Given the description of an element on the screen output the (x, y) to click on. 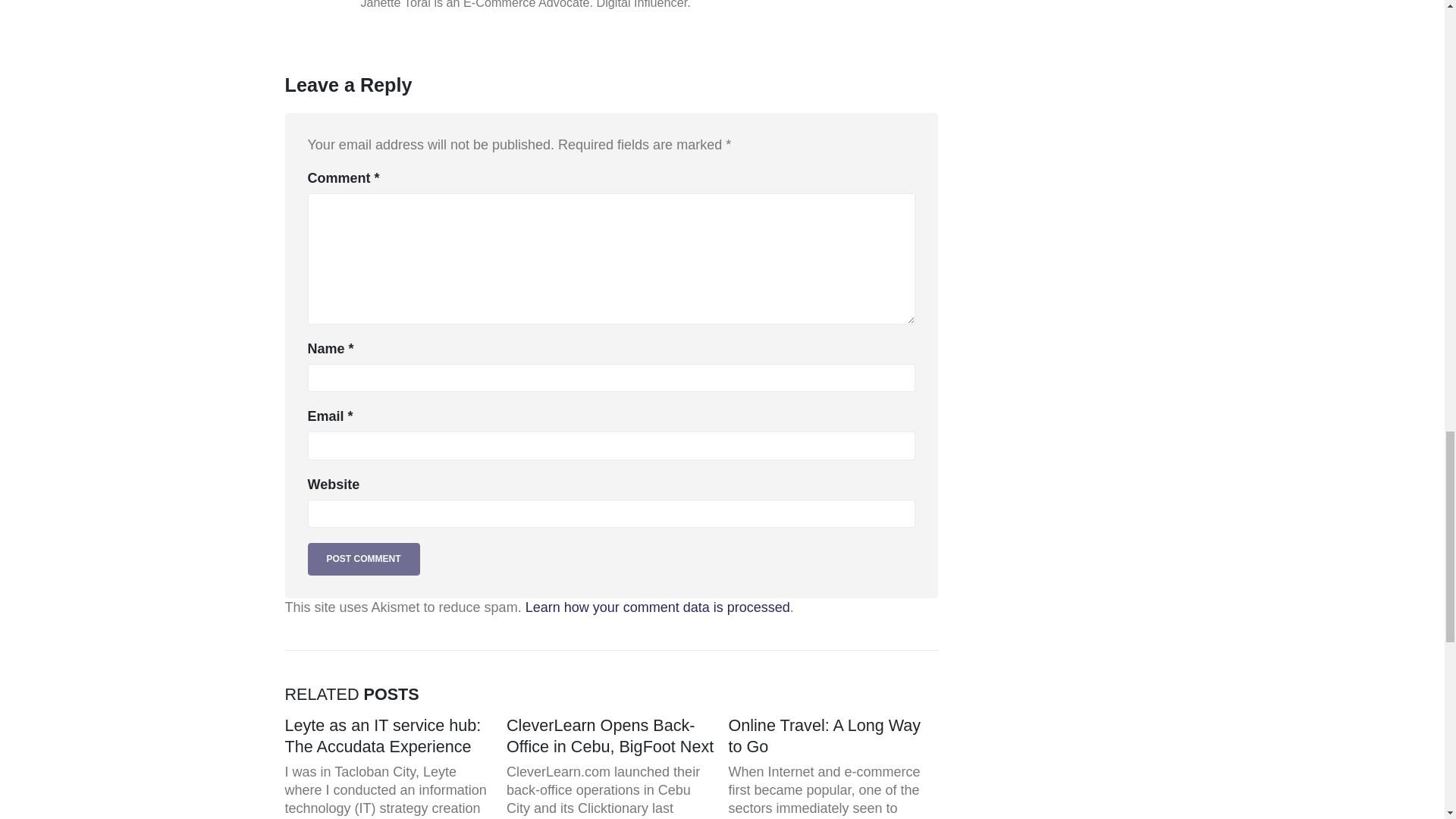
Online Travel: A Long Way to Go (824, 735)
Post Comment (363, 558)
CleverLearn Opens Back-Office in Cebu, BigFoot Next (609, 735)
Learn how your comment data is processed (657, 607)
Leyte as an IT service hub: The Accudata Experience (383, 735)
Post Comment (363, 558)
